Given the description of an element on the screen output the (x, y) to click on. 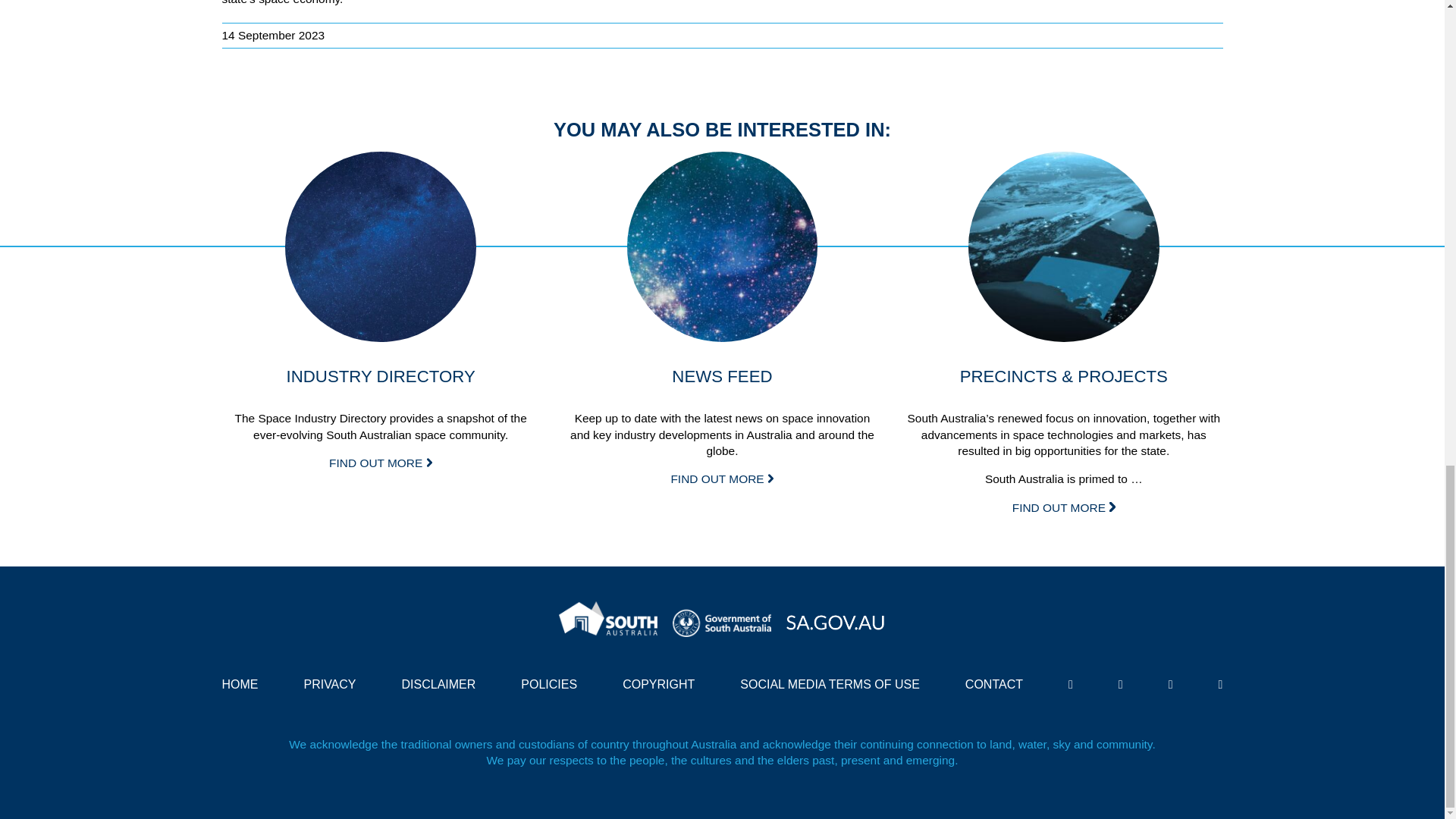
sa.gov.au logo (835, 619)
View: INDUSTRY DIRECTORY (380, 247)
Government of South Australia Logo (721, 619)
View: News Feed (722, 247)
View: INDUSTRY DIRECTORY (380, 462)
View: News Feed (721, 478)
South Australia White Logo (608, 619)
